Given the description of an element on the screen output the (x, y) to click on. 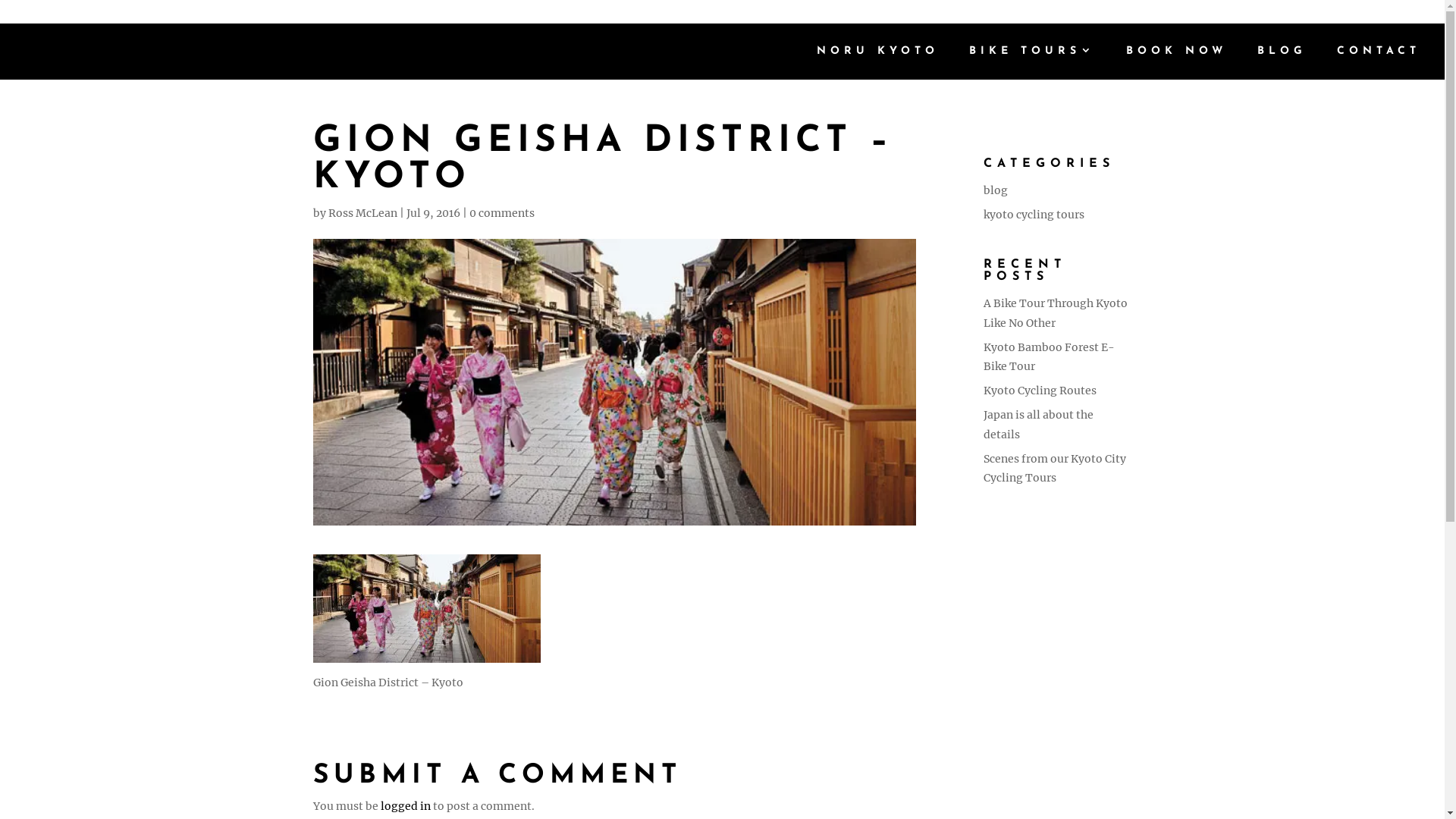
Kyoto Cycling Routes Element type: text (1039, 390)
A Bike Tour Through Kyoto Like No Other Element type: text (1055, 312)
Ross McLean Element type: text (361, 212)
CONTACT Element type: text (1378, 62)
Kyoto Bamboo Forest E-Bike Tour Element type: text (1048, 356)
0 comments Element type: text (500, 212)
blog Element type: text (995, 190)
BIKE TOURS Element type: text (1032, 62)
Japan is all about the details Element type: text (1038, 423)
kyoto cycling tours Element type: text (1033, 214)
info@noru.cc Element type: text (565, 11)
NORU KYOTO Element type: text (877, 62)
BLOG Element type: text (1281, 62)
logged in Element type: text (405, 805)
Scenes from our Kyoto City Cycling Tours Element type: text (1054, 467)
BOOK NOW Element type: text (1176, 62)
